Given the description of an element on the screen output the (x, y) to click on. 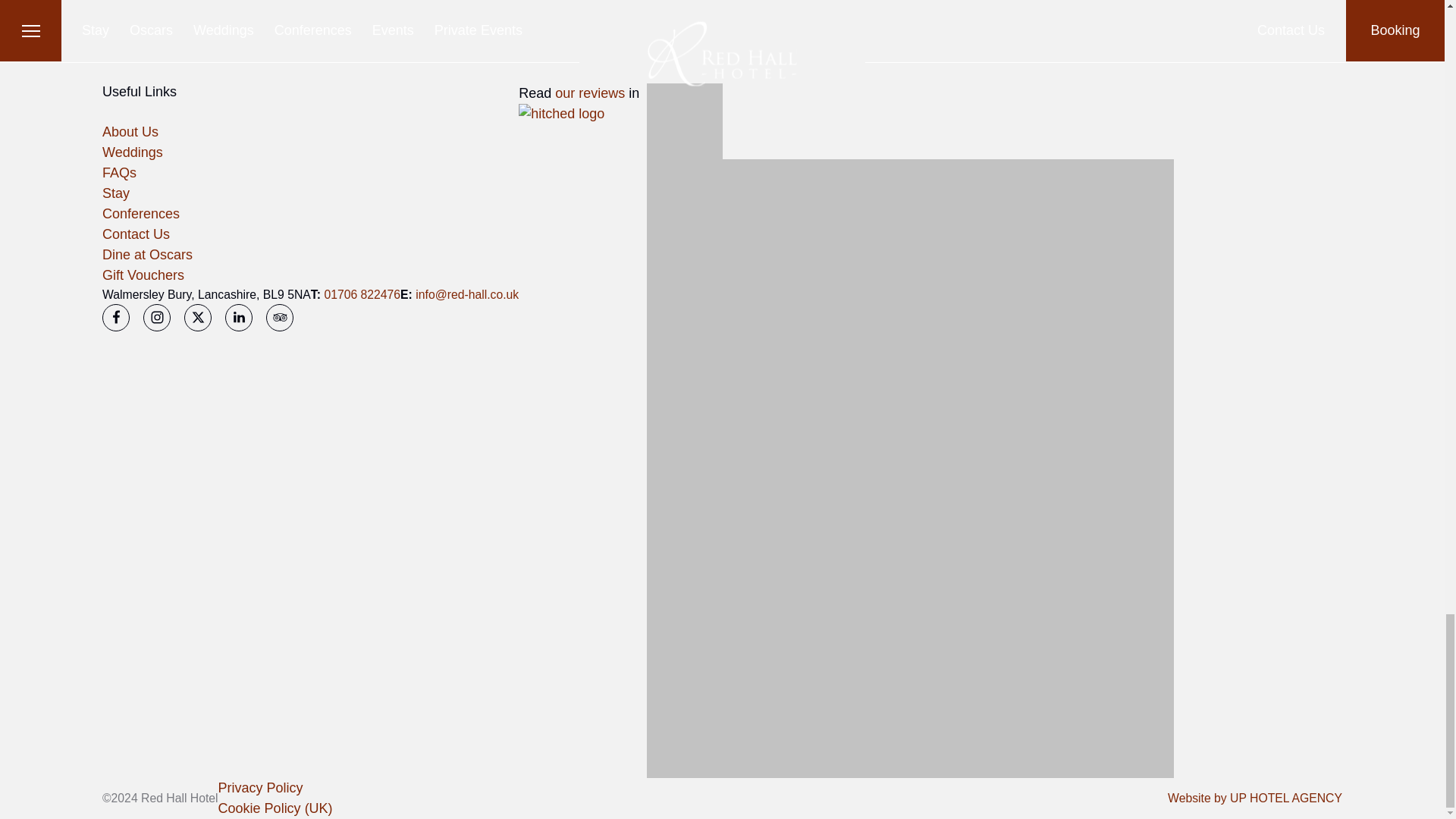
Stay (115, 192)
Conferences (140, 213)
About Us (129, 131)
FAQs (118, 172)
Contact Us (135, 233)
Weddings (132, 151)
